Given the description of an element on the screen output the (x, y) to click on. 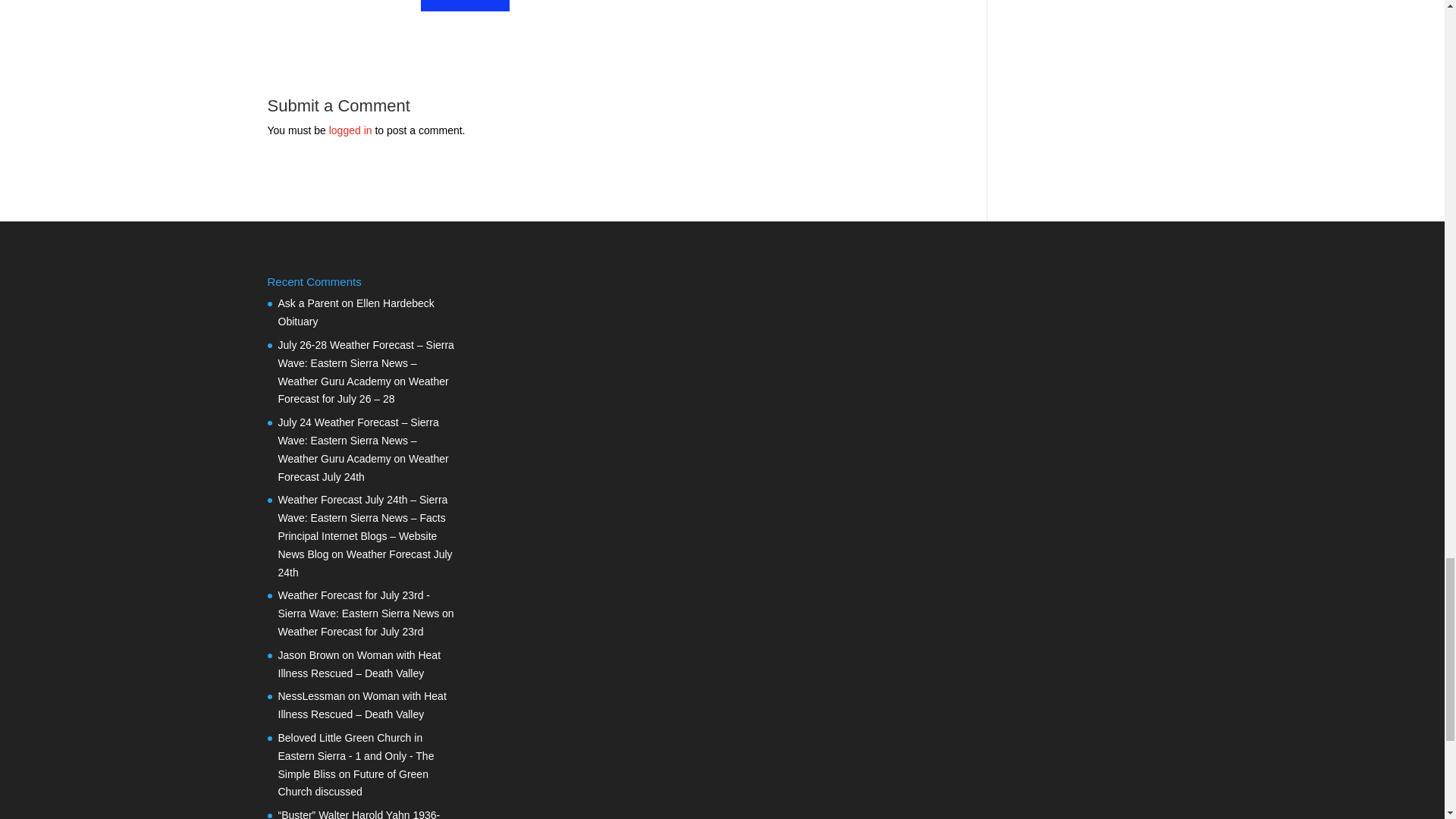
logged in (350, 130)
Subscribe (465, 6)
Ellen Hardebeck Obituary (355, 312)
